Given the description of an element on the screen output the (x, y) to click on. 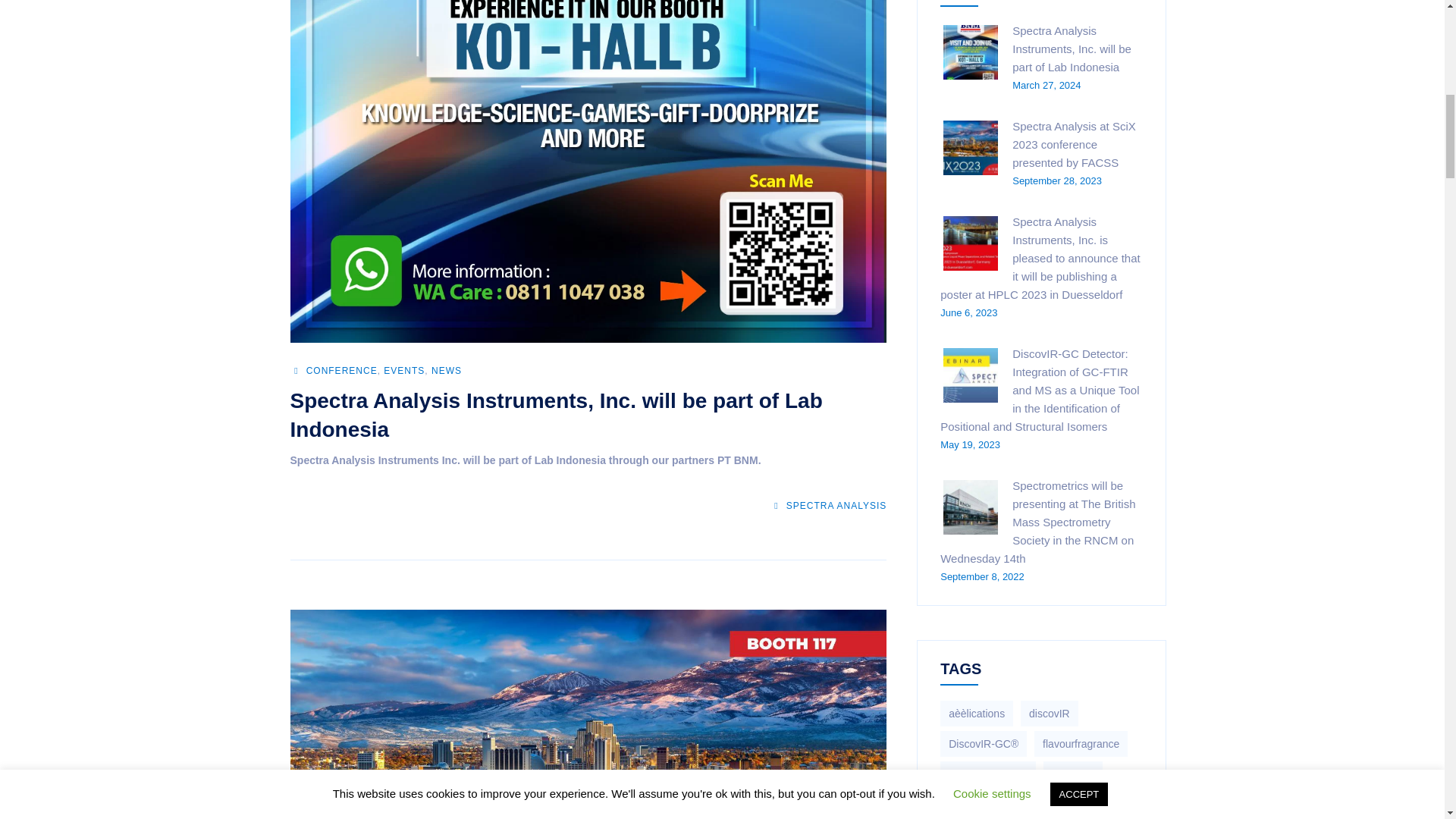
CONFERENCE (341, 370)
EVENTS (404, 370)
NEWS (445, 370)
SPECTRA ANALYSIS (828, 505)
